Given the description of an element on the screen output the (x, y) to click on. 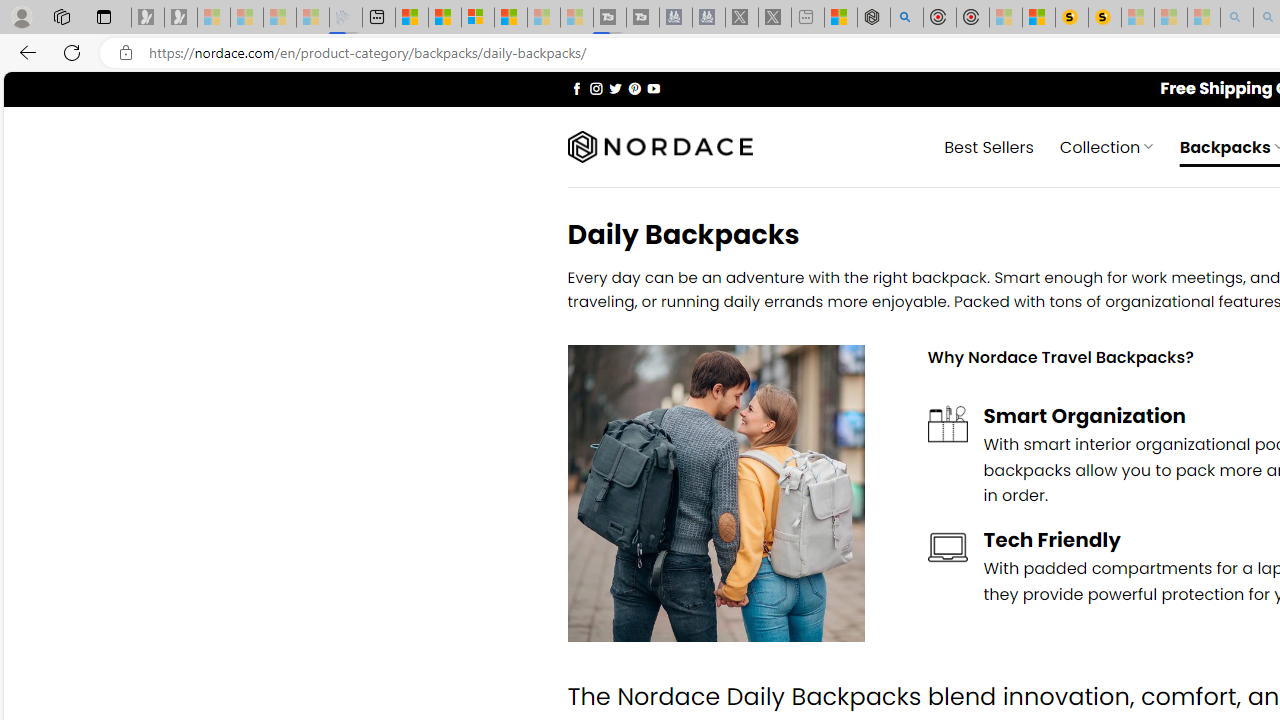
amazon - Search - Sleeping (1237, 17)
